Given the description of an element on the screen output the (x, y) to click on. 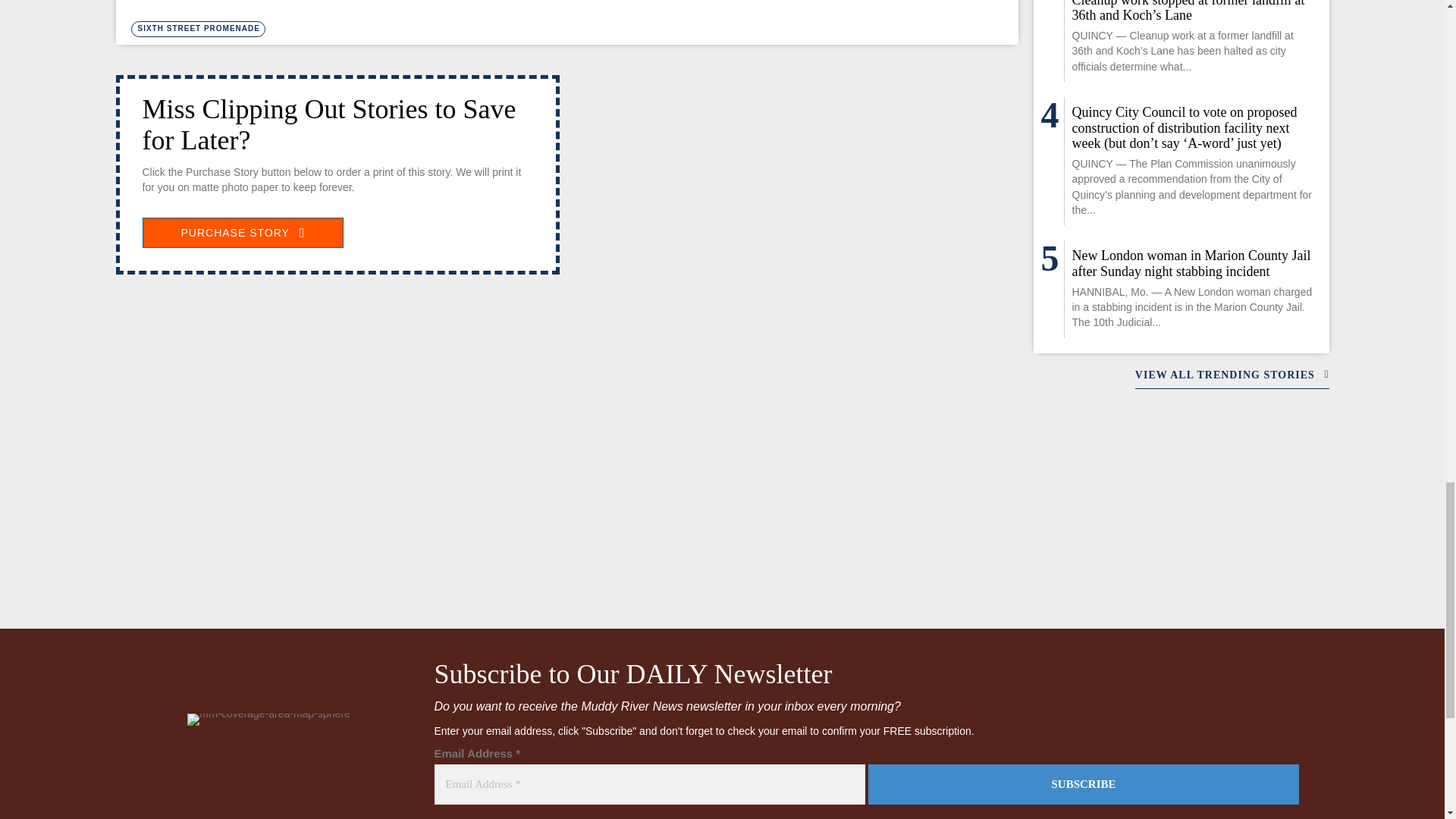
SUBSCRIBE (1082, 784)
Email Address (648, 784)
mrn-coverage-area-map-sphere (268, 719)
